Given the description of an element on the screen output the (x, y) to click on. 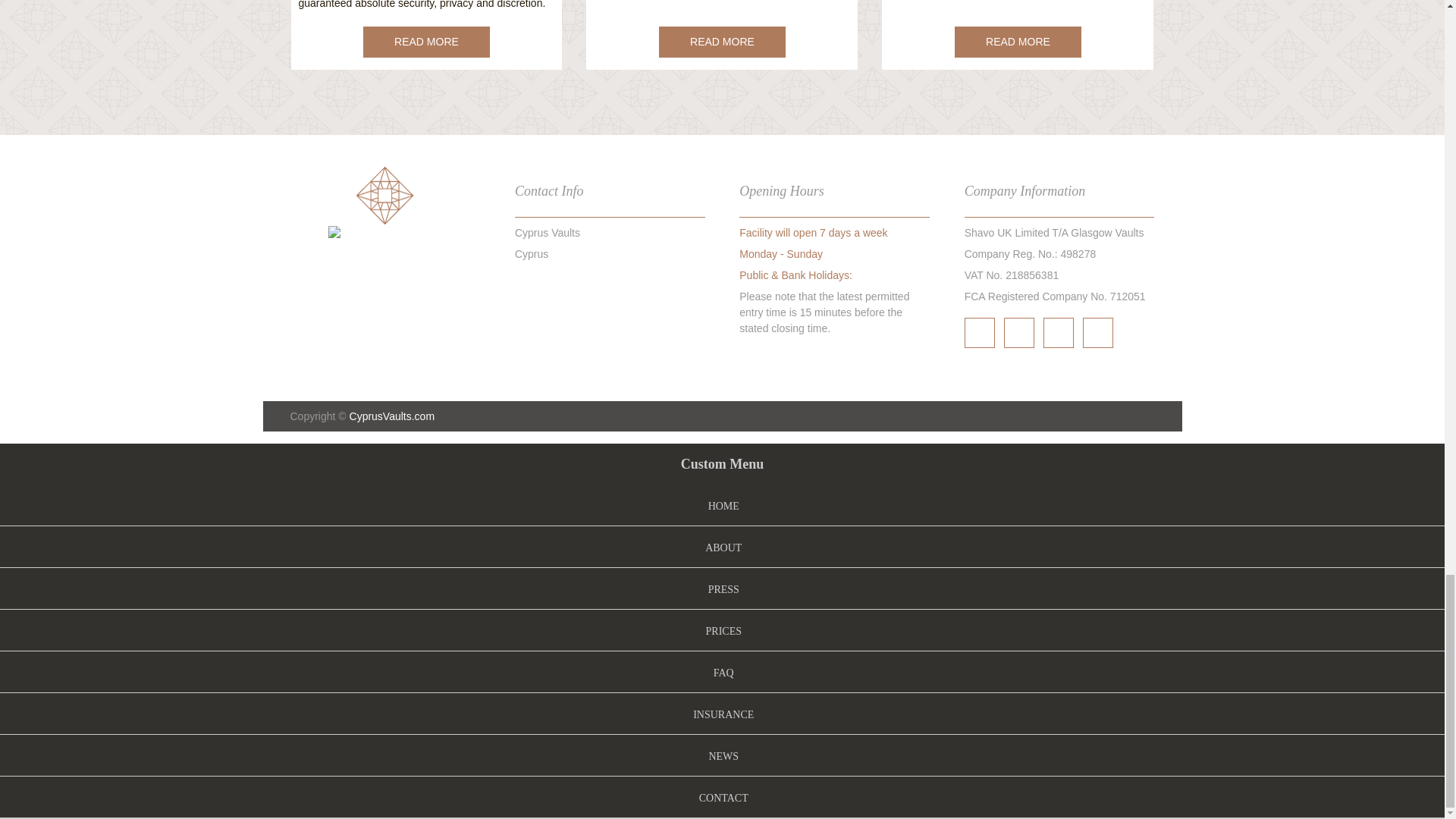
 PRESS (721, 589)
 ABOUT (722, 547)
Prices For Safety Deposit Box (1018, 41)
READ MORE (722, 41)
CyprusVaults.com (392, 416)
READ MORE (1018, 41)
 HOME (721, 505)
Contact Merrion Vaults (722, 41)
About Secure Storage (425, 41)
READ MORE (425, 41)
